Given the description of an element on the screen output the (x, y) to click on. 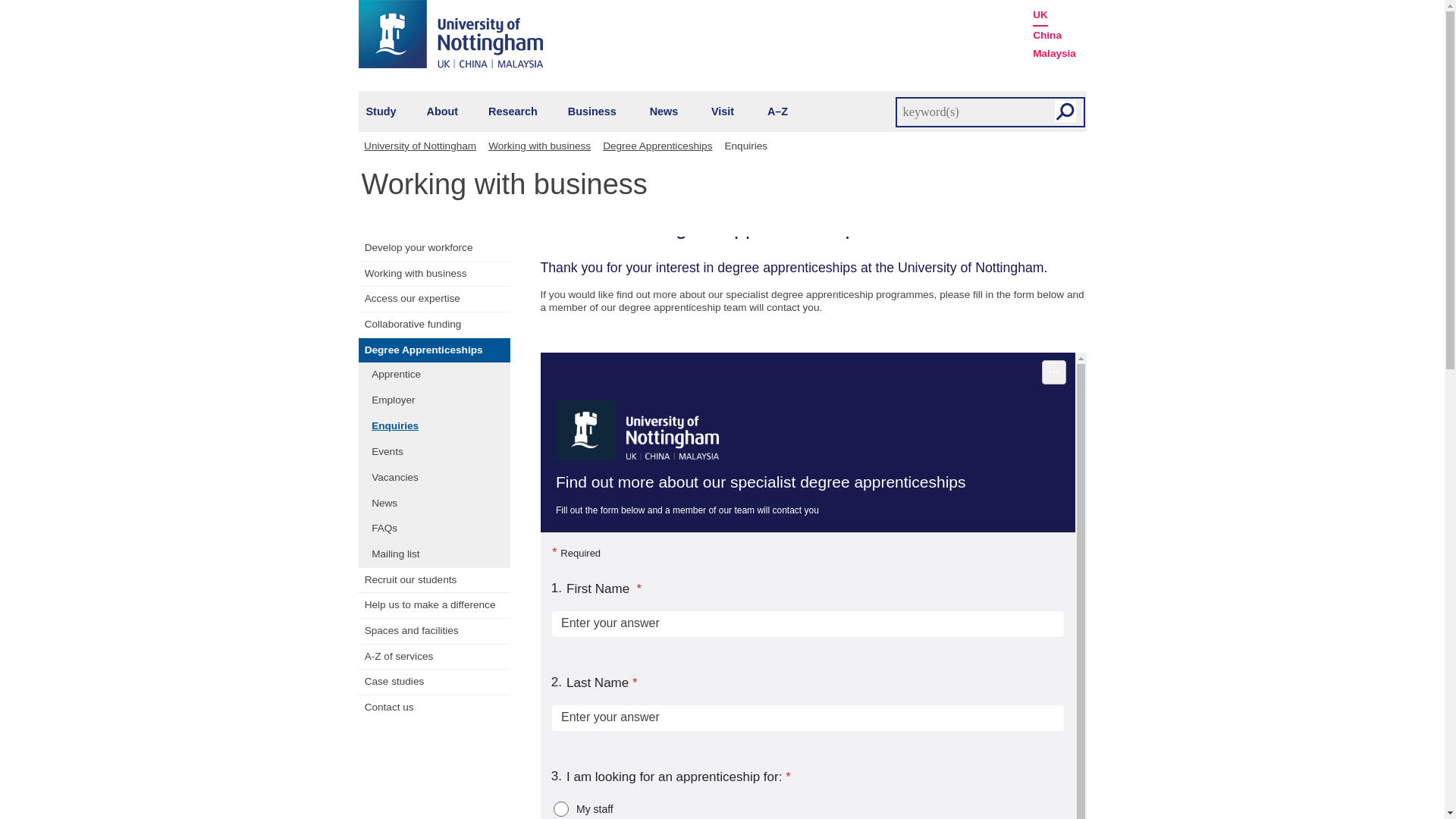
About the University of Nottingham (442, 110)
China (1046, 35)
News (663, 110)
Go to Working with business from here (541, 145)
Research (512, 110)
Study (380, 110)
University of Nottingham (424, 145)
News (663, 110)
Go to Degree Apprenticeships from here (659, 145)
GO (1064, 111)
